Given the description of an element on the screen output the (x, y) to click on. 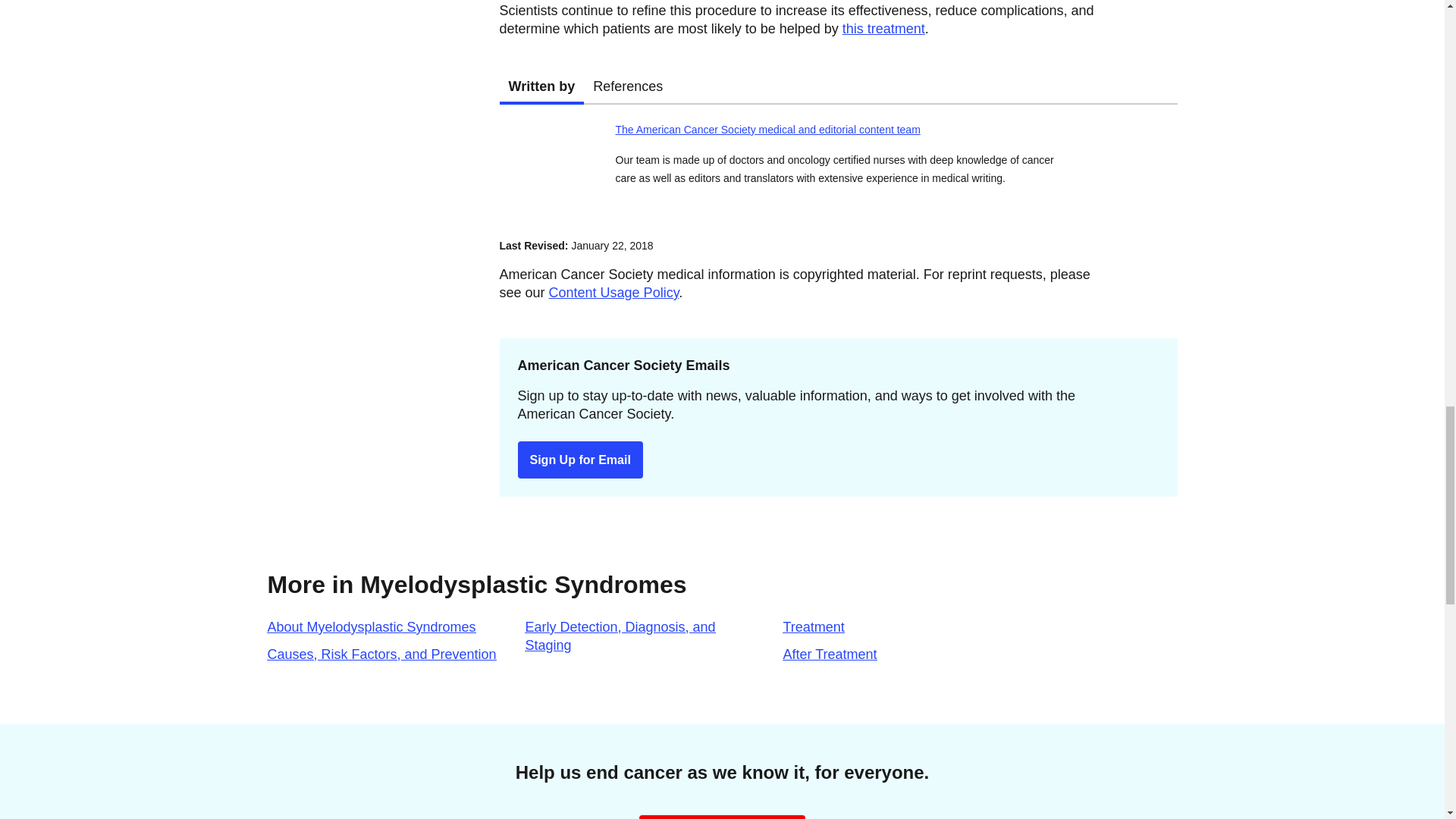
After Treatment (829, 654)
About Myelodysplastic Syndromes (371, 626)
Treatment (813, 626)
Causes, Risk Factors, and Prevention (381, 654)
Early Detection, Diagnosis, and Staging (619, 635)
